Given the description of an element on the screen output the (x, y) to click on. 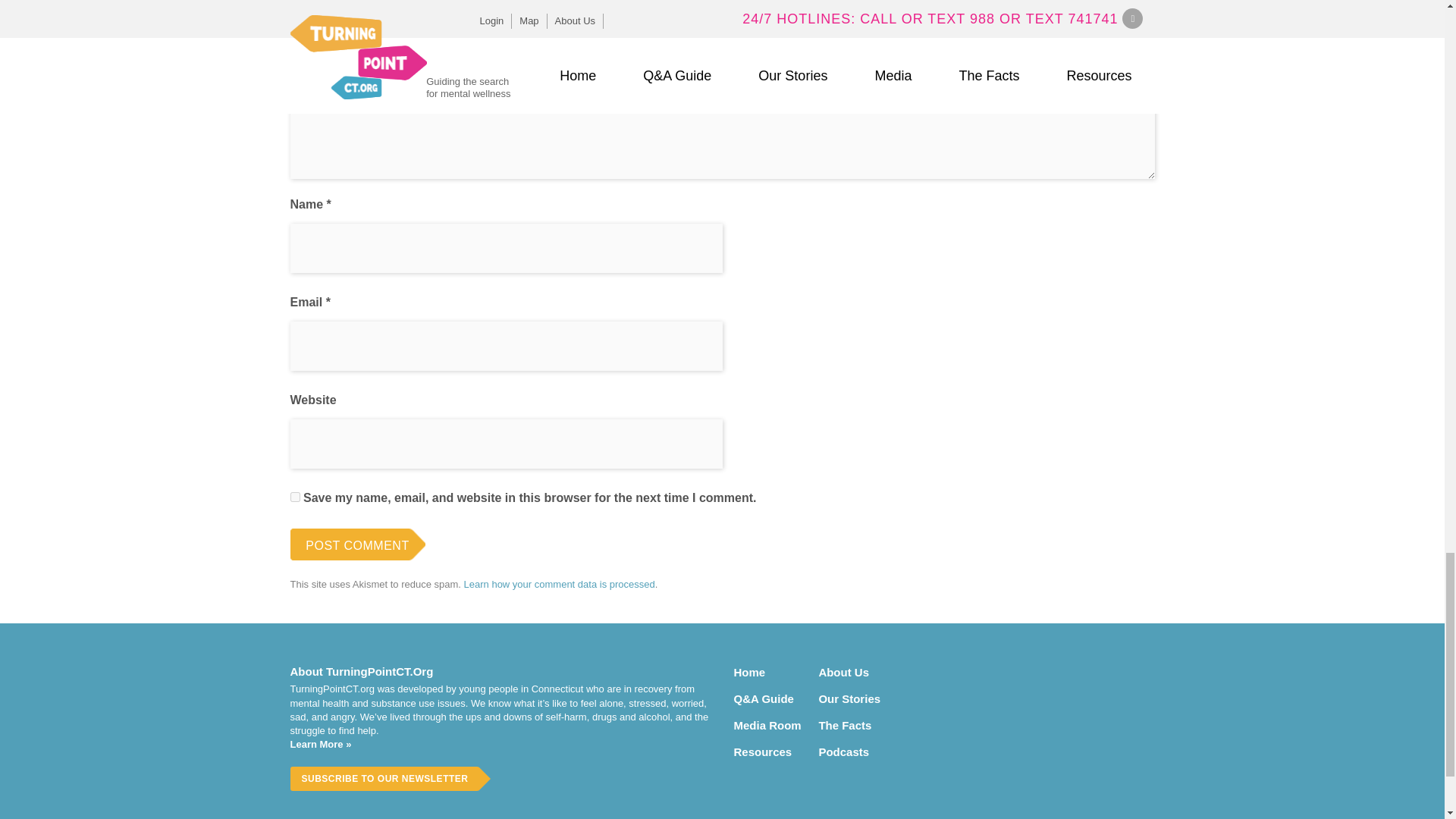
Learn how your comment data is processed (559, 583)
Post Comment (357, 544)
Post Comment (357, 544)
yes (294, 497)
About Us (853, 672)
SUBSCRIBE TO OUR NEWSLETTER (384, 778)
Home (768, 672)
